Given the description of an element on the screen output the (x, y) to click on. 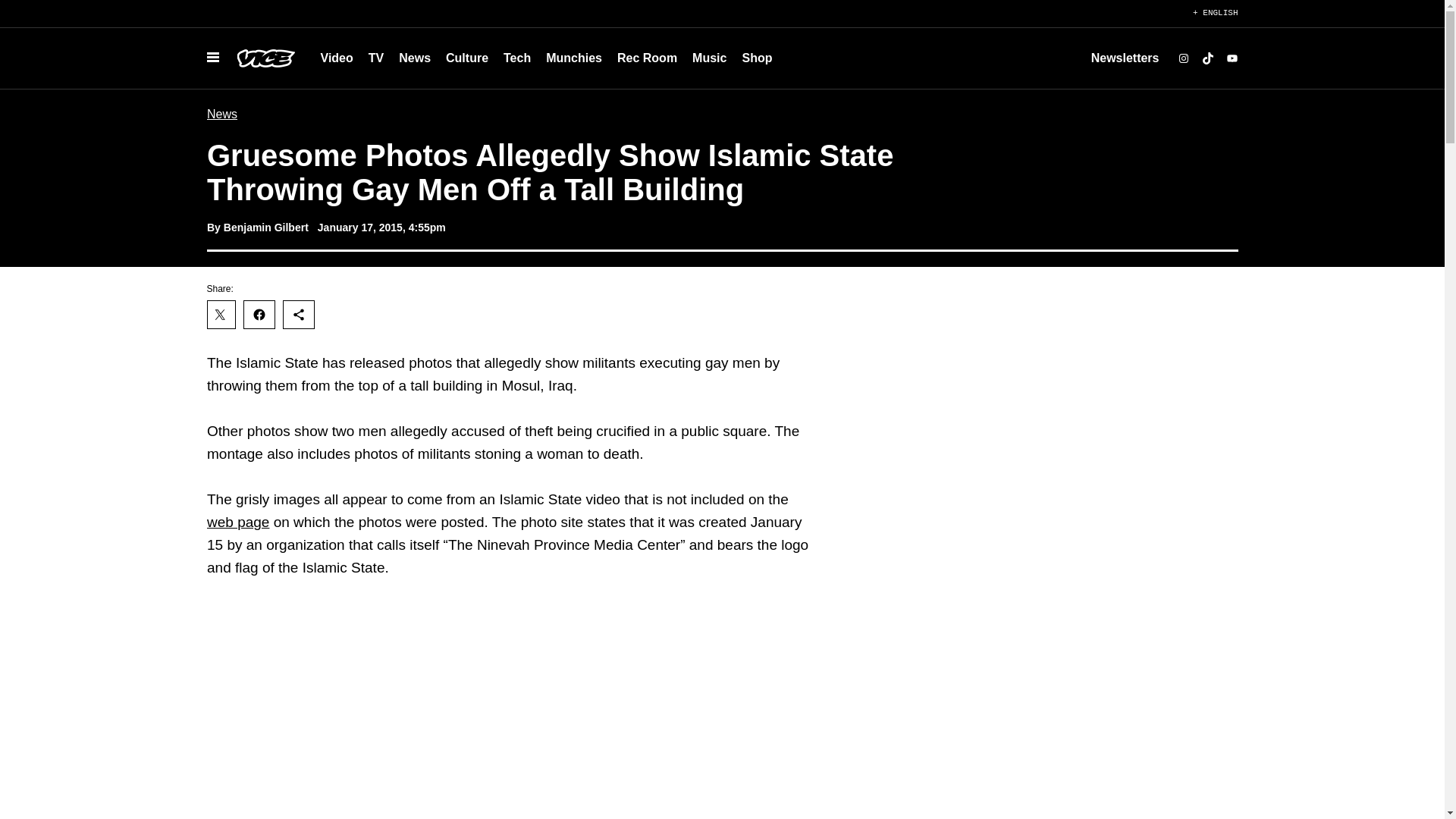
Posts by Benjamin Gilbert (264, 227)
Munchies (574, 58)
Shop (755, 58)
YouTube (1231, 58)
Music (708, 58)
Video (336, 58)
Instagram (1182, 58)
Rec Room (647, 58)
Tech (517, 58)
Open Menu (211, 58)
